Given the description of an element on the screen output the (x, y) to click on. 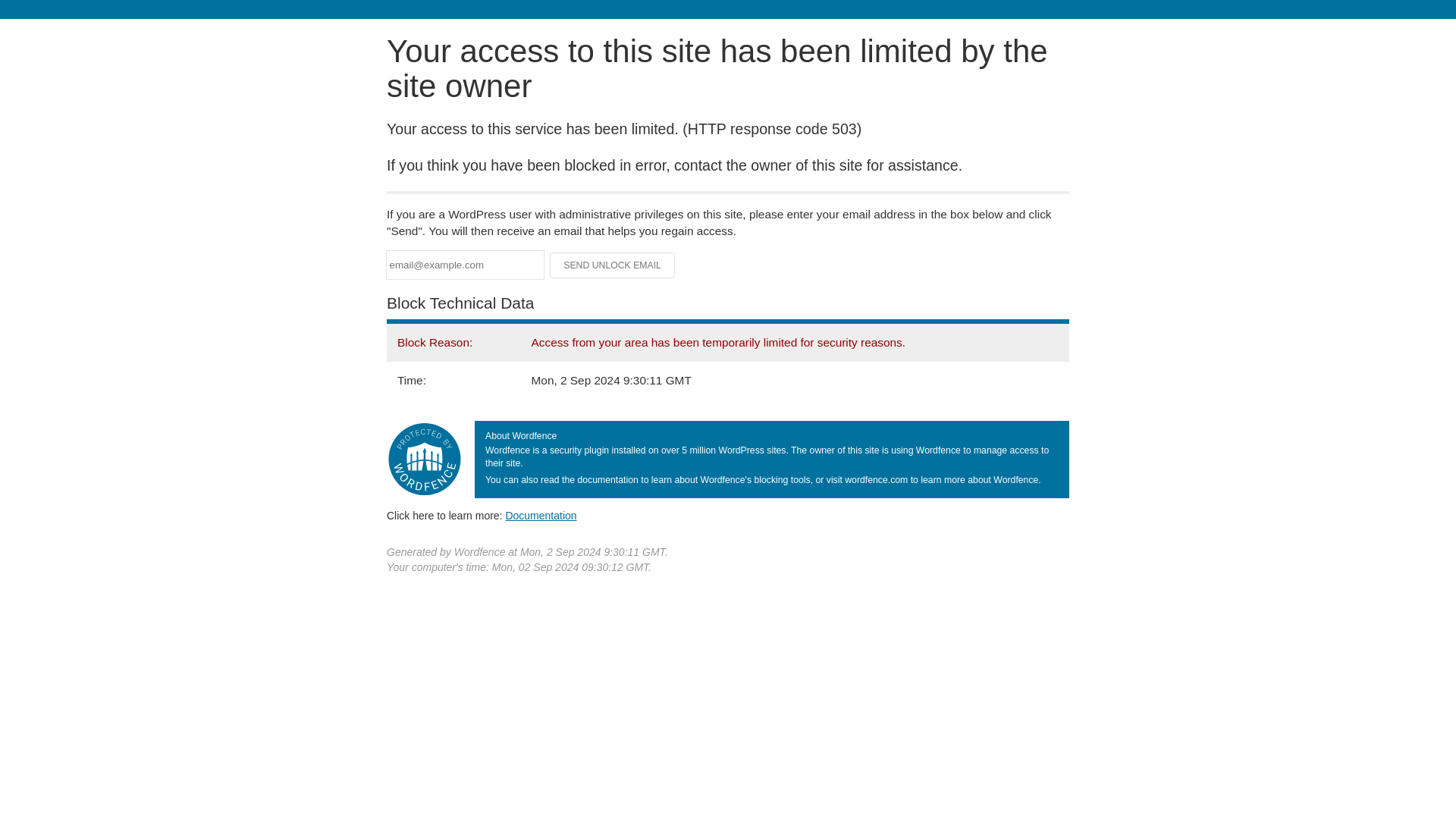
Send Unlock Email (612, 265)
Send Unlock Email (612, 265)
Documentation (540, 515)
